Given the description of an element on the screen output the (x, y) to click on. 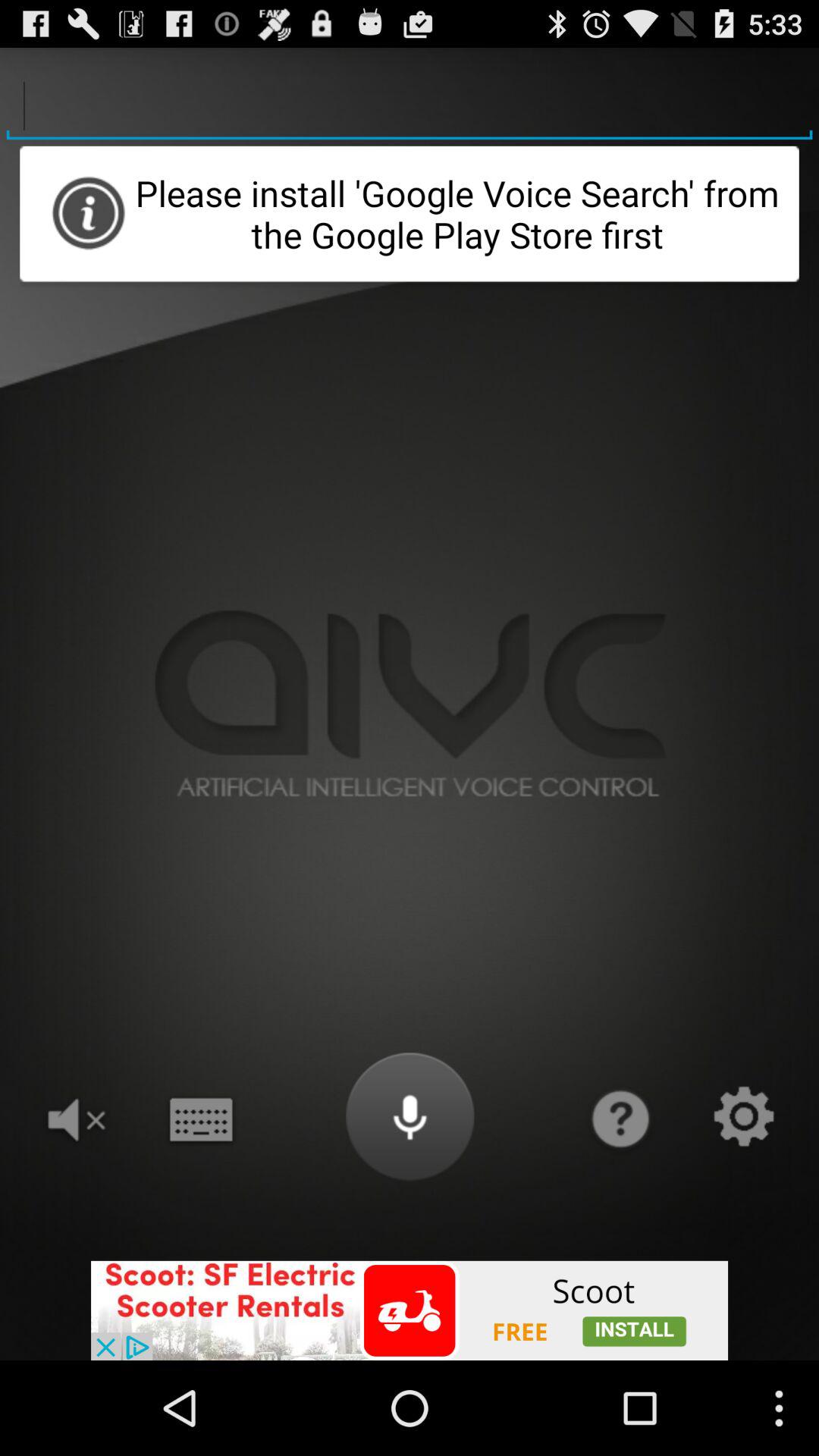
go to advertisement (409, 1310)
